Given the description of an element on the screen output the (x, y) to click on. 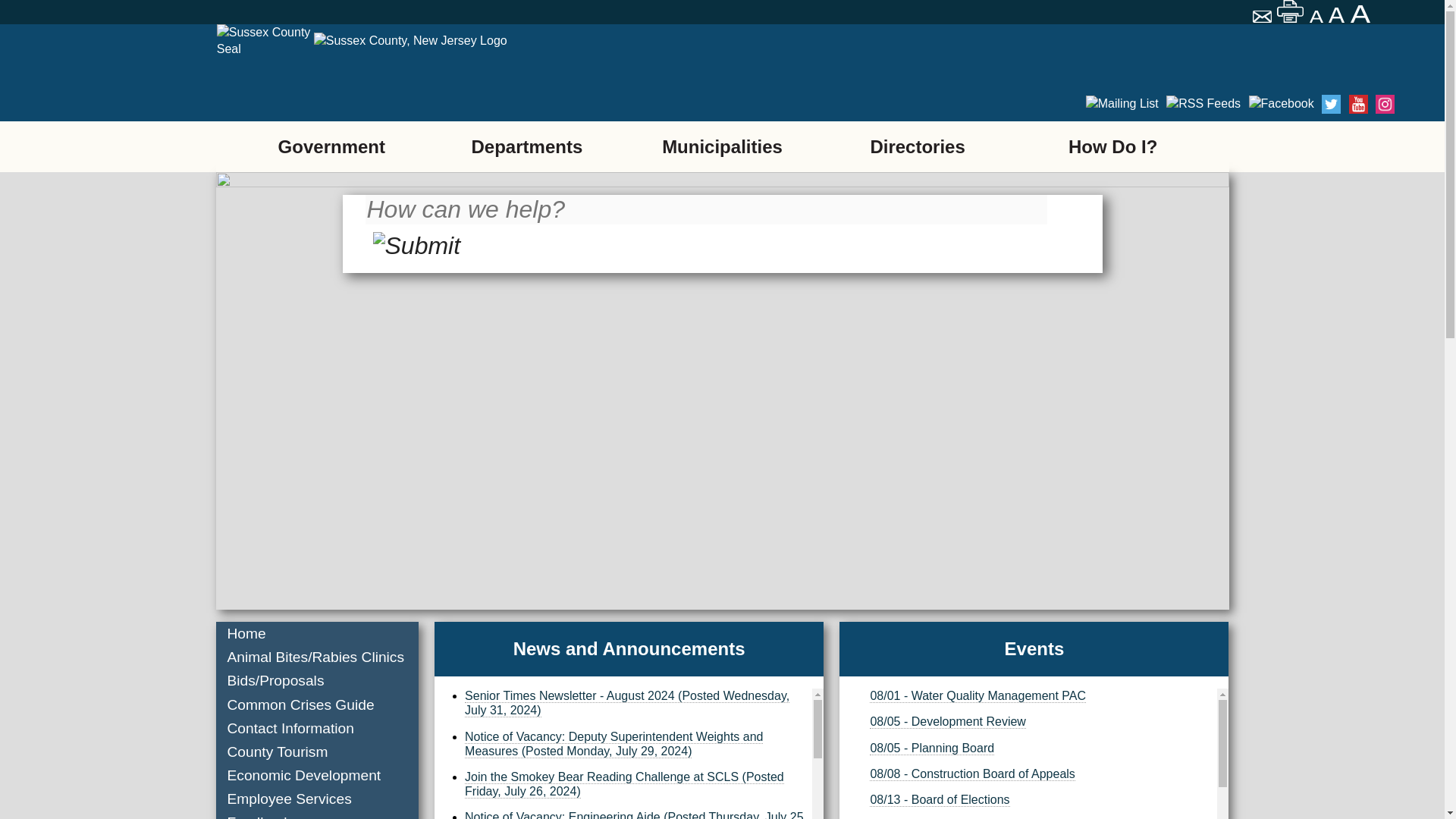
Follow us on Twitter (1175, 104)
Email page (1263, 18)
Medium font size (1336, 14)
Government (330, 146)
Large font size (1362, 13)
Small font size (1316, 16)
Search Box (705, 219)
Visit our YouTube channel (1202, 104)
Print page (1291, 11)
Sign Up for emails from Sussex County (1095, 104)
